Given the description of an element on the screen output the (x, y) to click on. 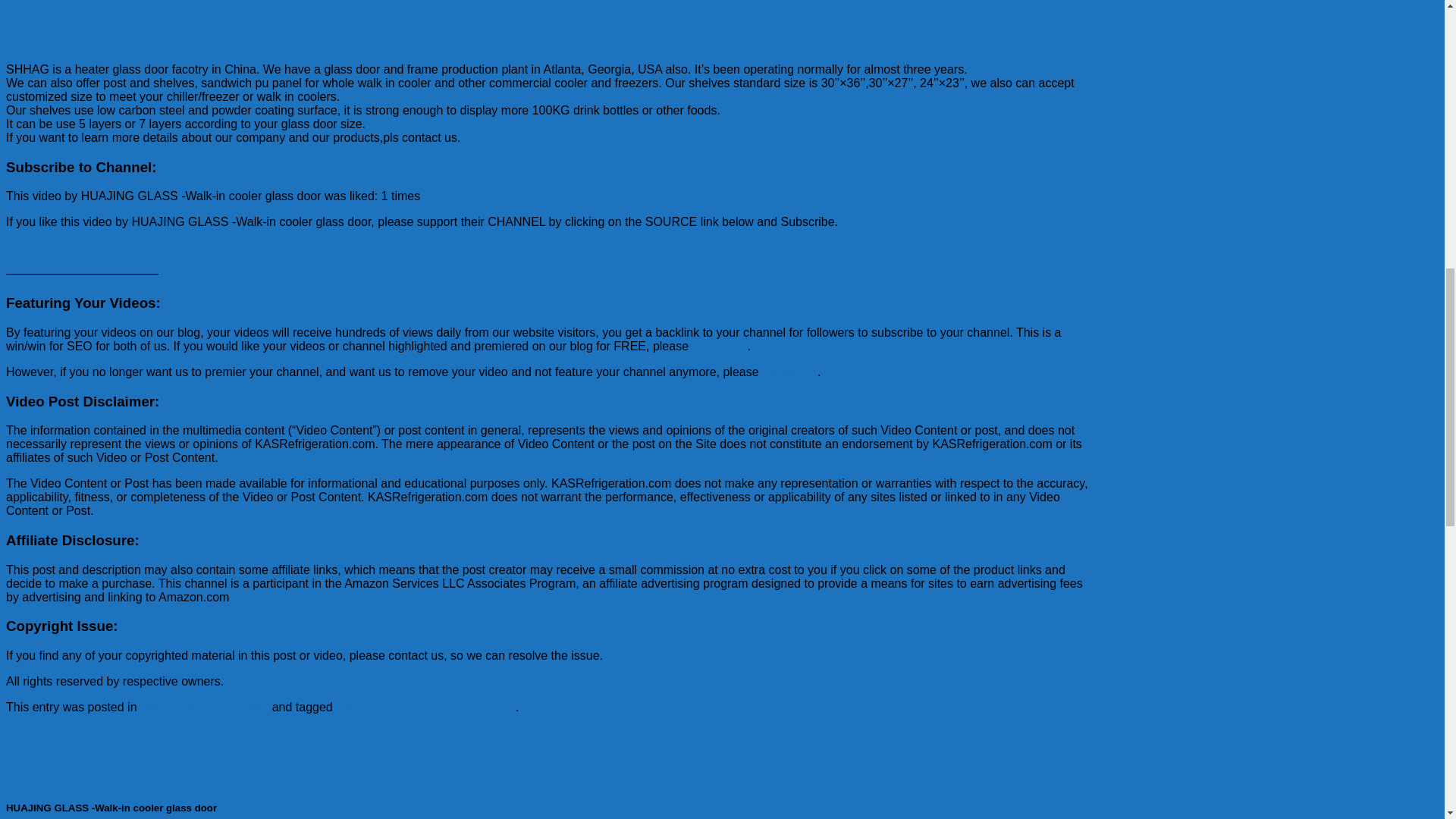
contact us (718, 345)
SOURCE (31, 246)
commercial display walk in cooler (425, 707)
contact us (788, 371)
Display Walk In Coolers (203, 707)
